Given the description of an element on the screen output the (x, y) to click on. 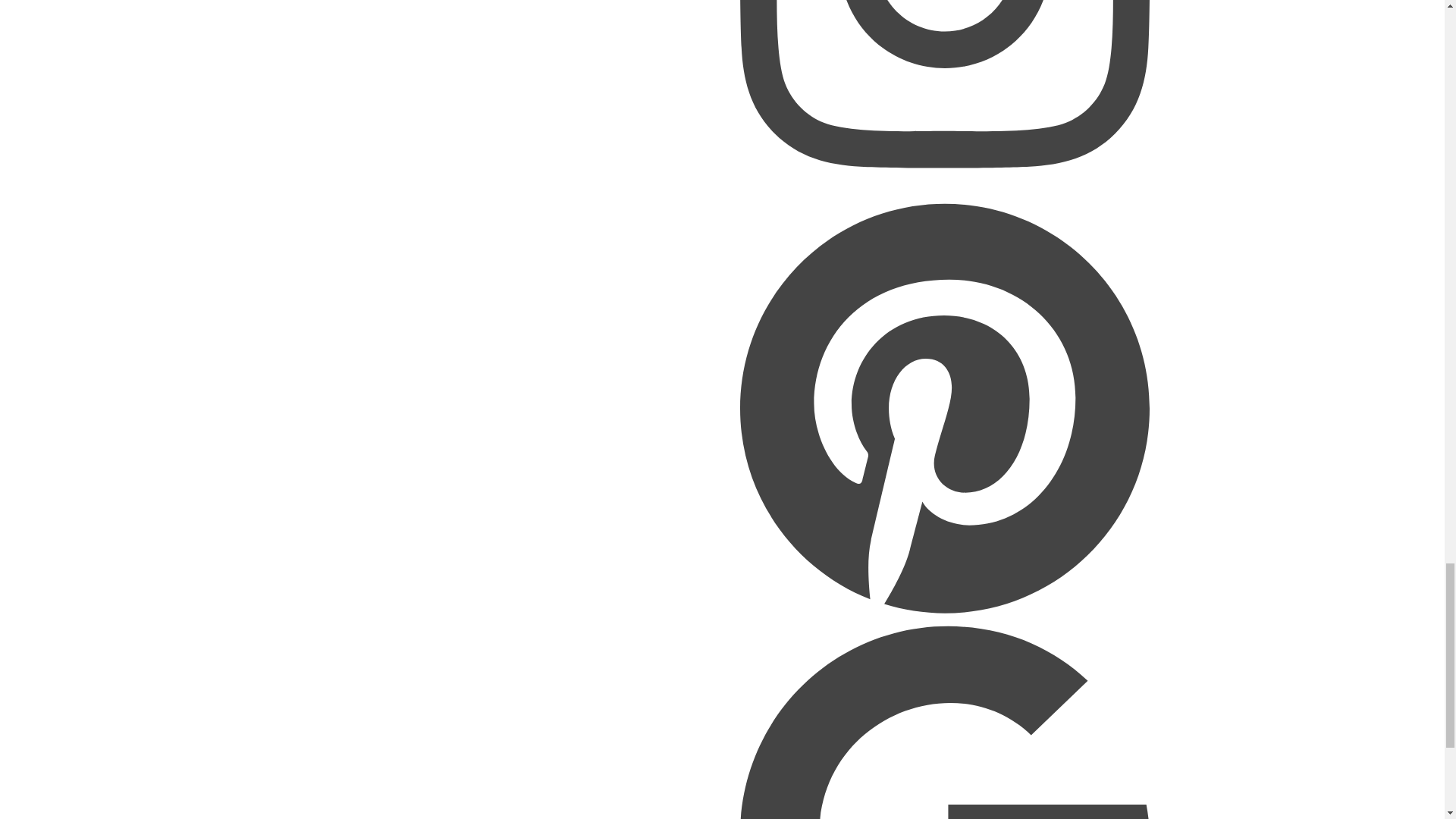
Home (329, 0)
